Given the description of an element on the screen output the (x, y) to click on. 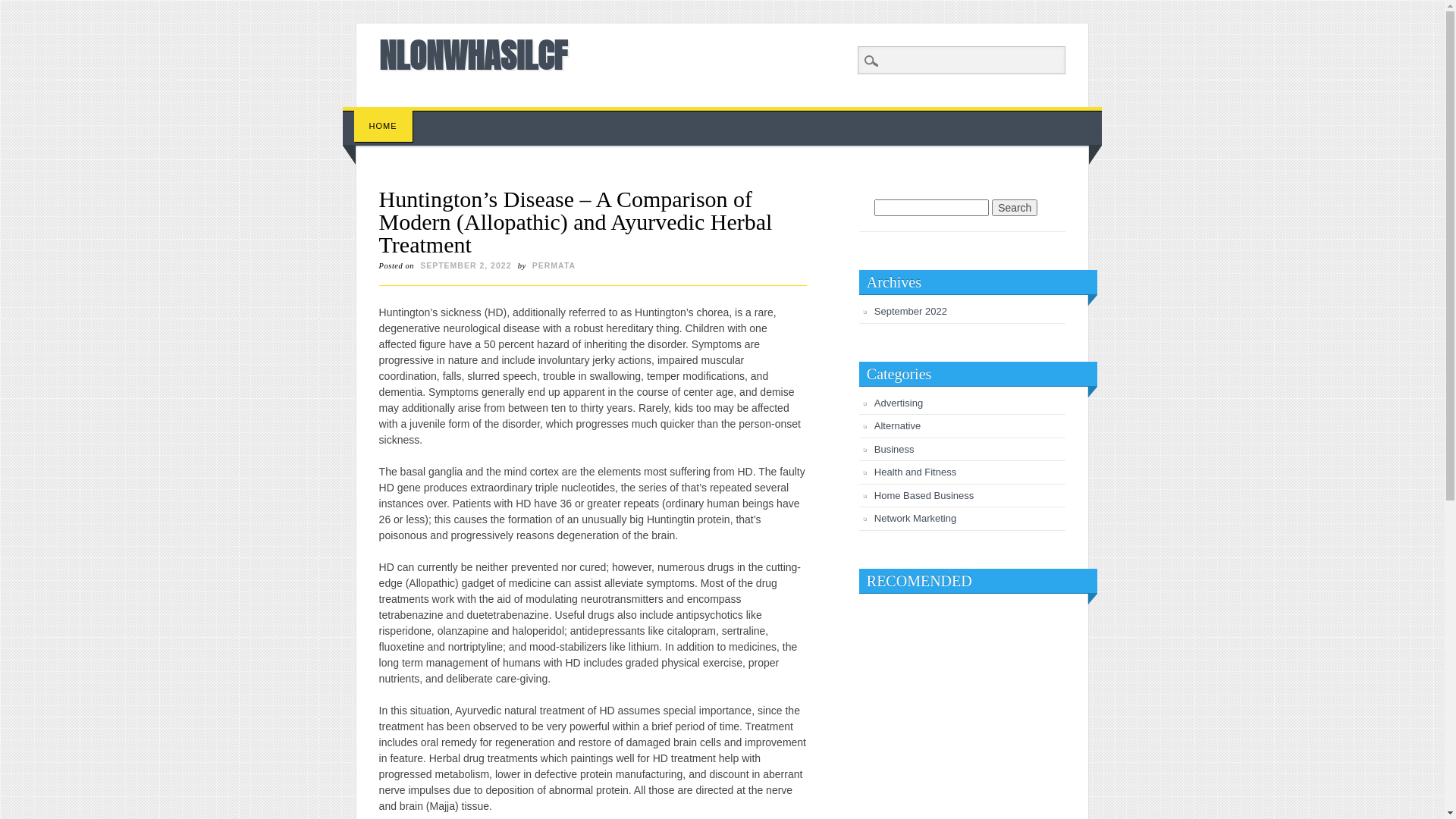
Skip to content Element type: text (377, 114)
Health and Fitness Element type: text (915, 471)
Network Marketing Element type: text (915, 518)
Home Based Business Element type: text (924, 495)
Alternative Element type: text (897, 425)
September 2022 Element type: text (910, 310)
NLONWHASILCF Element type: text (473, 55)
Business Element type: text (894, 449)
Advertising Element type: text (898, 402)
Search Element type: text (22, 8)
PERMATA Element type: text (553, 264)
Search Element type: text (1014, 207)
HOME Element type: text (383, 125)
SEPTEMBER 2, 2022 Element type: text (465, 264)
